Given the description of an element on the screen output the (x, y) to click on. 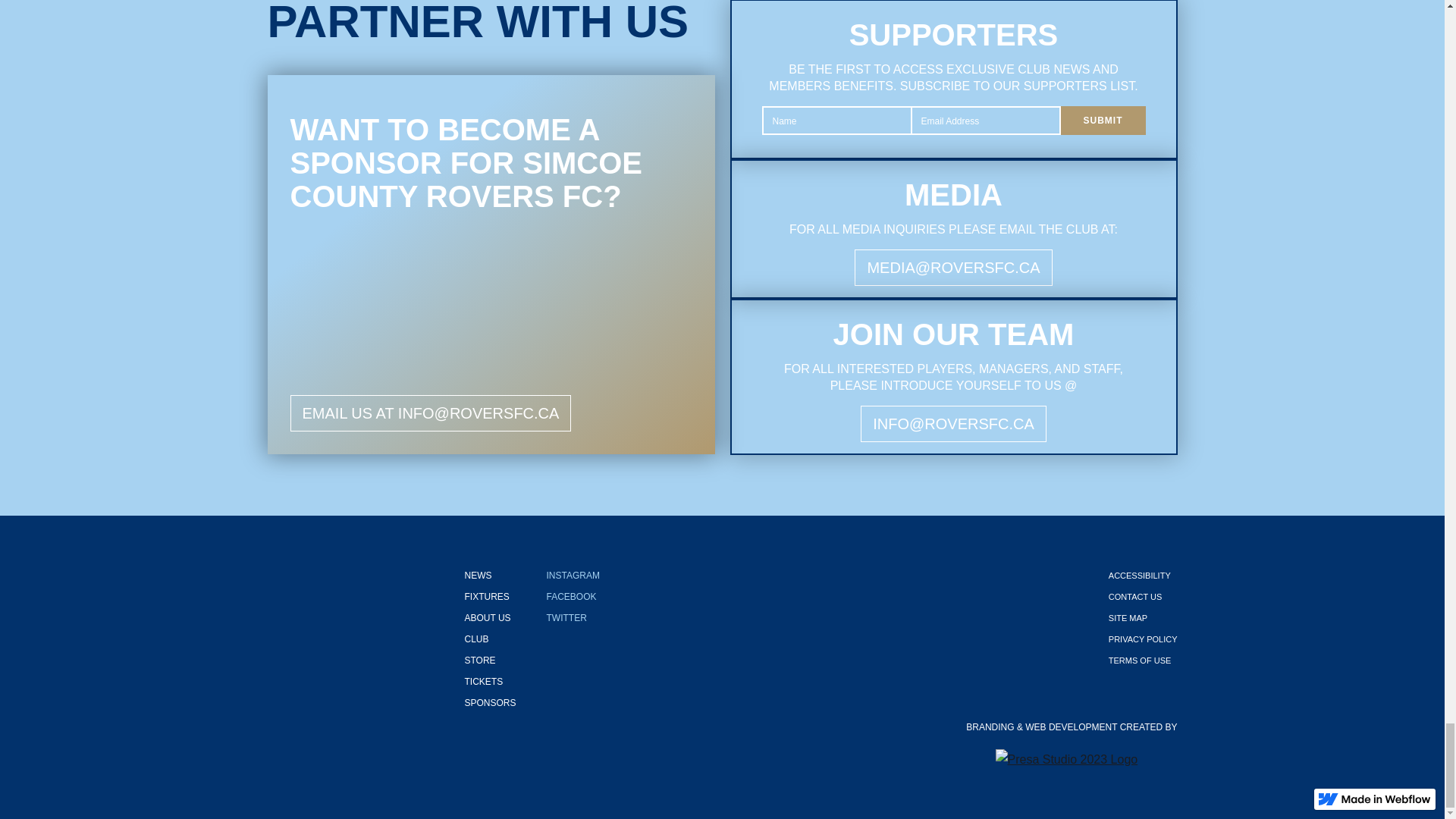
Submit (1101, 120)
